Given the description of an element on the screen output the (x, y) to click on. 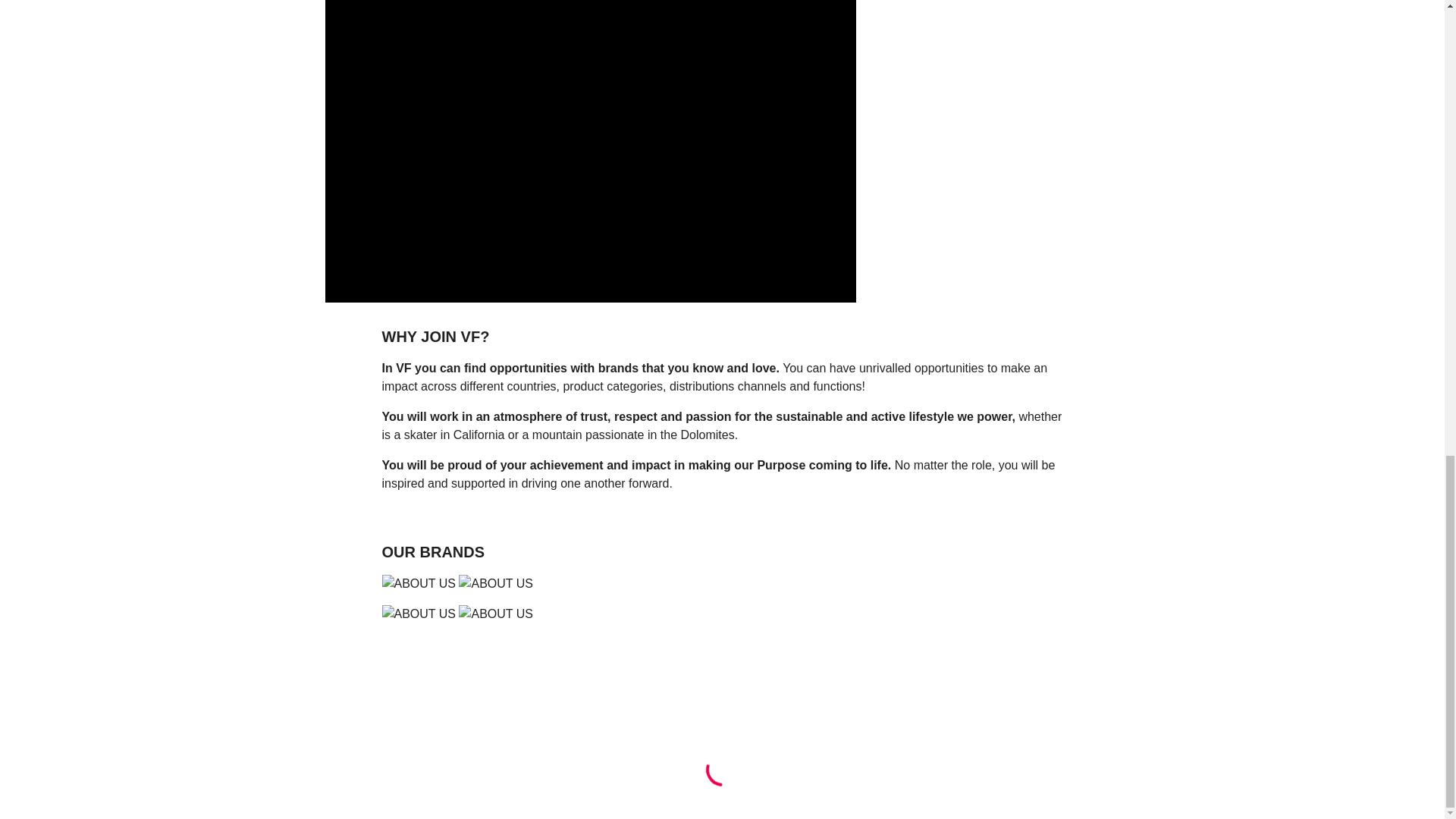
ABOUT US (721, 583)
ABOUT US (721, 614)
